Given the description of an element on the screen output the (x, y) to click on. 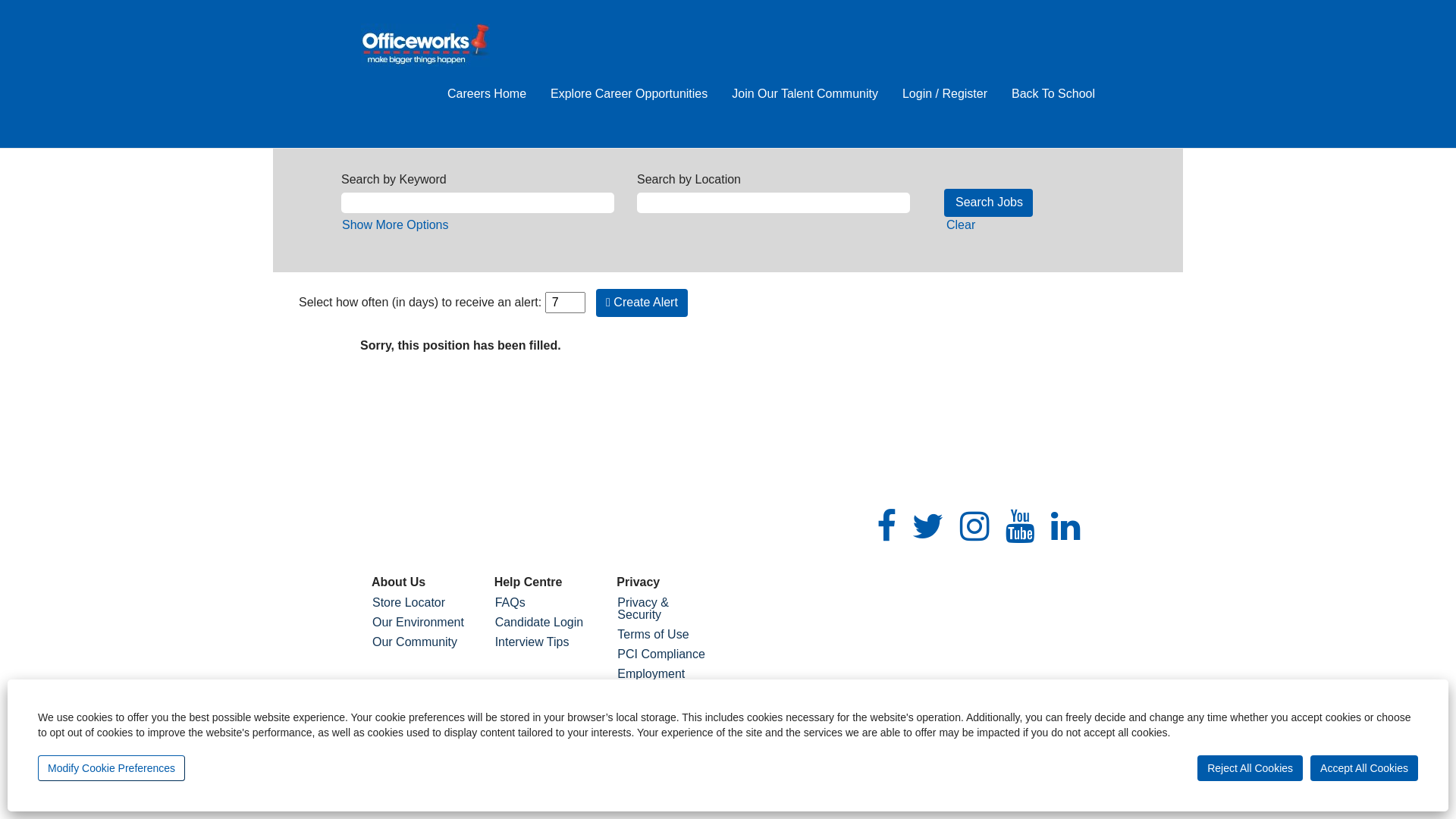
Careers Home Element type: text (486, 93)
Explore Career Opportunities Element type: text (628, 93)
youtube Element type: hover (1019, 527)
Accept All Cookies Element type: text (1364, 768)
Interview Tips Element type: text (544, 642)
Employment Scam Warning Element type: text (666, 680)
Officeworks Career Element type: hover (425, 44)
Clear Element type: text (960, 224)
PCI Compliance Element type: text (666, 654)
Search Jobs Element type: text (988, 202)
Terms of Use Element type: text (666, 634)
Reject All Cookies Element type: text (1249, 768)
Join Our Talent Community Element type: text (804, 93)
Our Community Element type: text (421, 642)
FAQs Element type: text (544, 602)
twitter Element type: hover (927, 527)
Candidate Login Element type: text (544, 622)
Back To School Element type: text (1052, 93)
Our Environment Element type: text (421, 622)
Store Locator Element type: text (421, 602)
facebook Element type: hover (886, 527)
Create Alert Element type: text (641, 302)
Login / Register Element type: text (944, 93)
instagram Element type: hover (974, 527)
Modify Cookie Preferences Element type: text (111, 768)
linkedin Element type: hover (1065, 527)
Show More Options Element type: text (395, 224)
Privacy & Security Element type: text (666, 608)
